Given the description of an element on the screen output the (x, y) to click on. 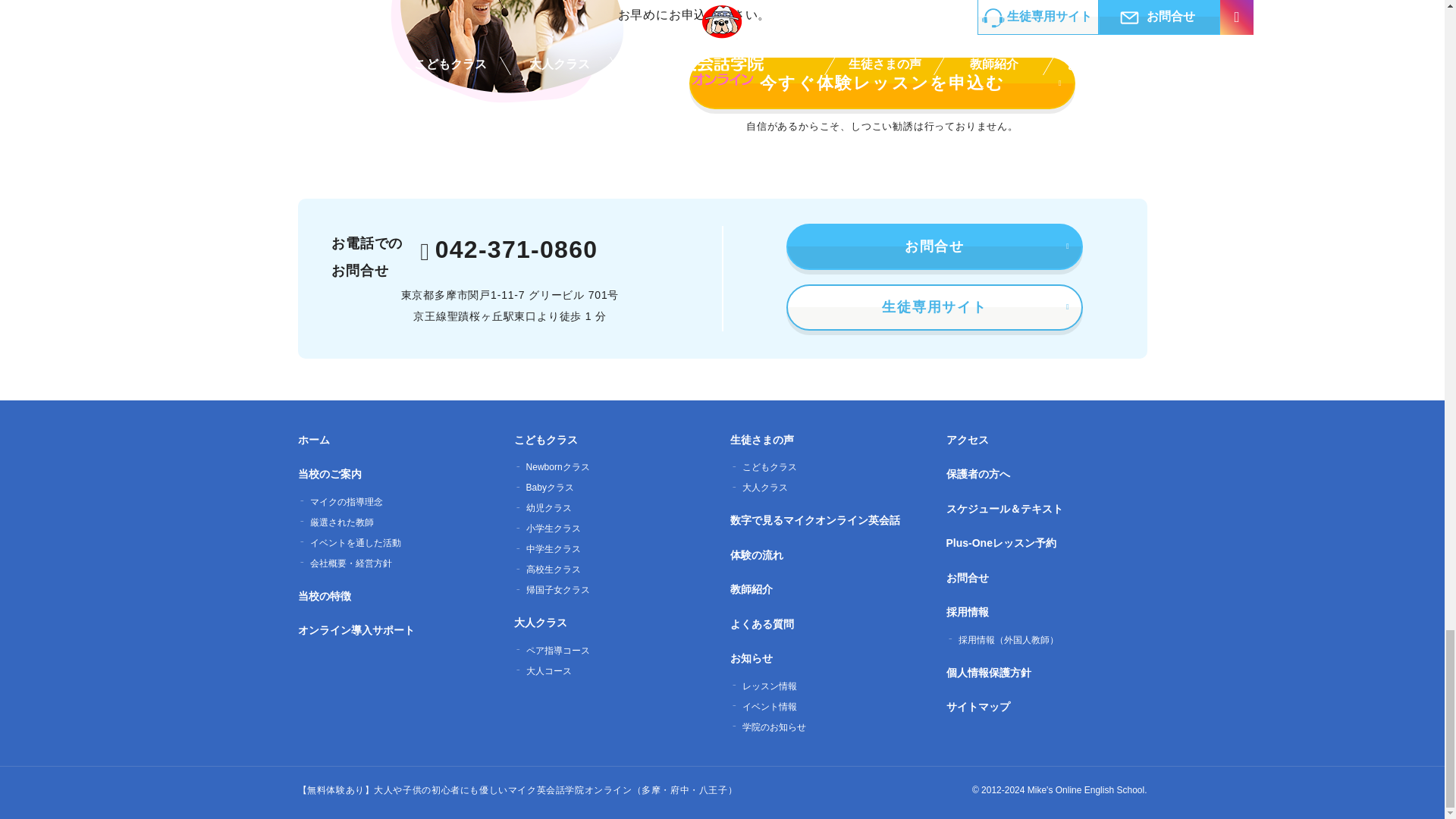
042-371-0860 (508, 250)
